Given the description of an element on the screen output the (x, y) to click on. 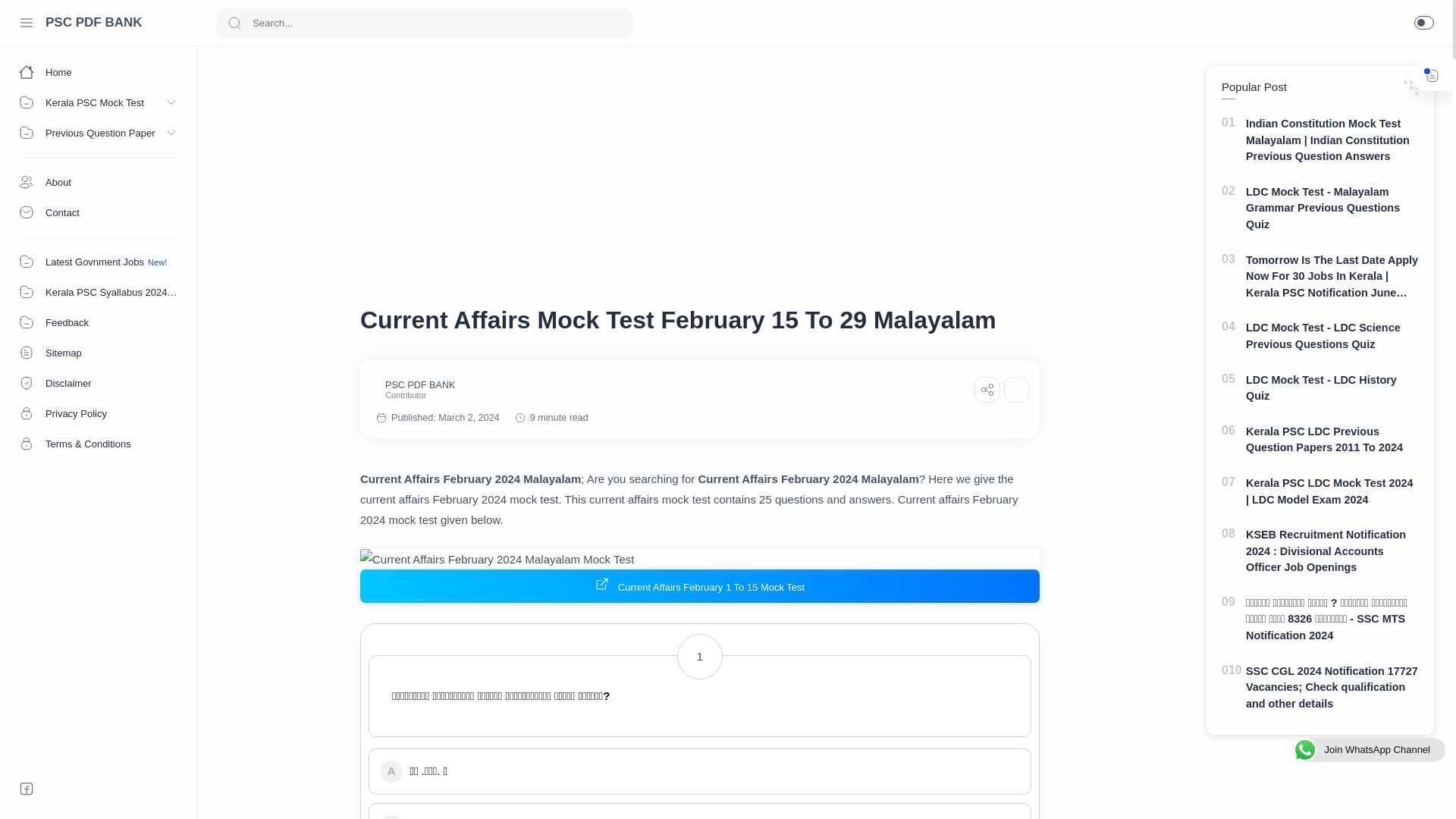
Latest Govnment Jobs (98, 261)
Privacy Policy (98, 413)
Contact (98, 212)
Feedback (98, 322)
Current Affairs 2024 Malayalam (474, 294)
Current Affairs February 2024 (633, 294)
Current Affairs February 2024 Malayalam Mock Test (699, 558)
About (98, 182)
Home (98, 71)
Kerala PSC Syallabus 2024 (98, 291)
PSC PDF BANK (93, 22)
Disclaimer (98, 382)
Sitemap (98, 352)
Current Affairs February 1 To 15 Mock Test (699, 585)
